Given the description of an element on the screen output the (x, y) to click on. 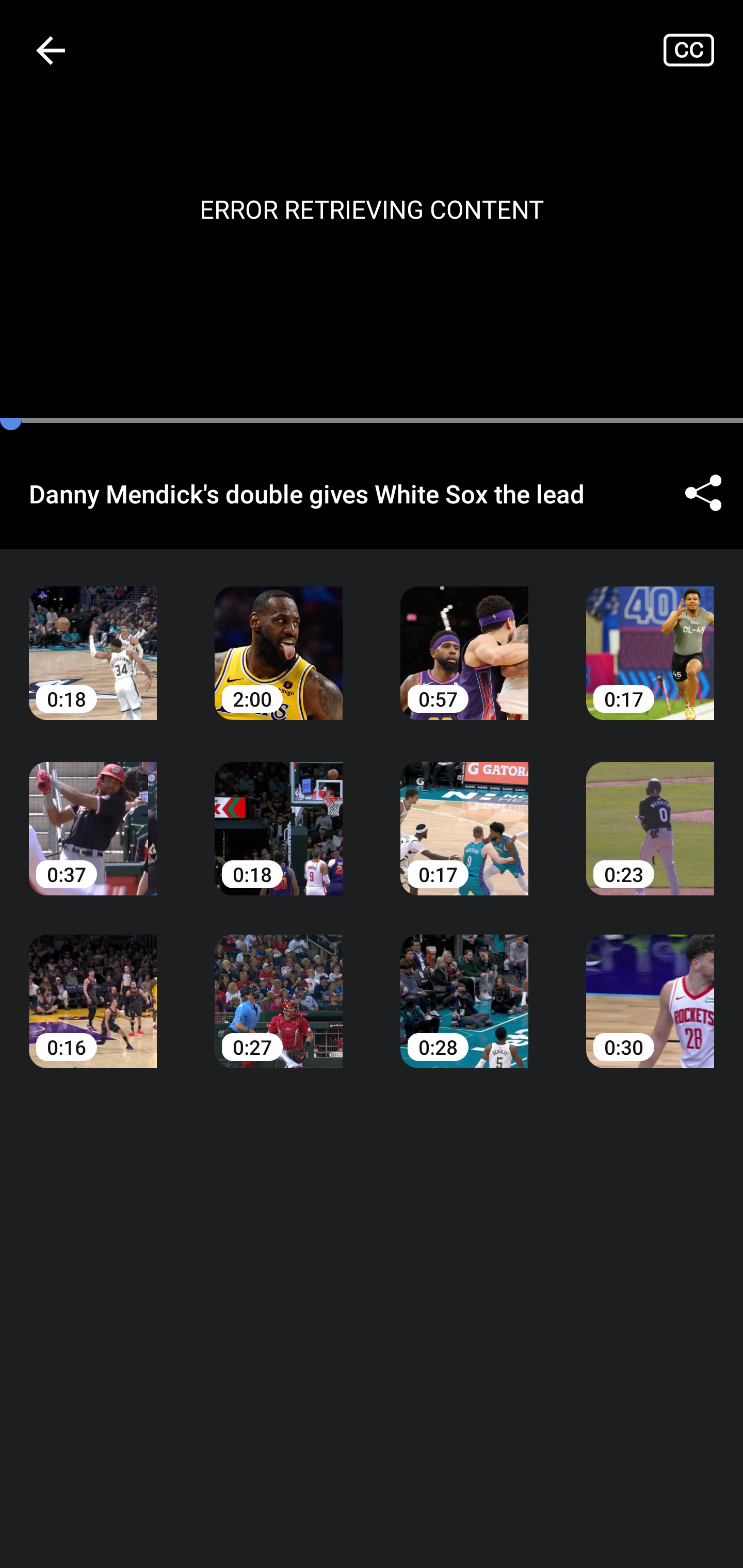
Navigate up (50, 50)
Closed captions  (703, 49)
Share © (703, 493)
0:18 (92, 637)
2:00 (278, 637)
0:57 (464, 637)
0:17 (650, 637)
0:37 (92, 813)
0:18 (278, 813)
0:17 (464, 813)
0:23 (650, 813)
0:16 (92, 987)
0:27 (278, 987)
0:28 (464, 987)
0:30 (650, 987)
